Given the description of an element on the screen output the (x, y) to click on. 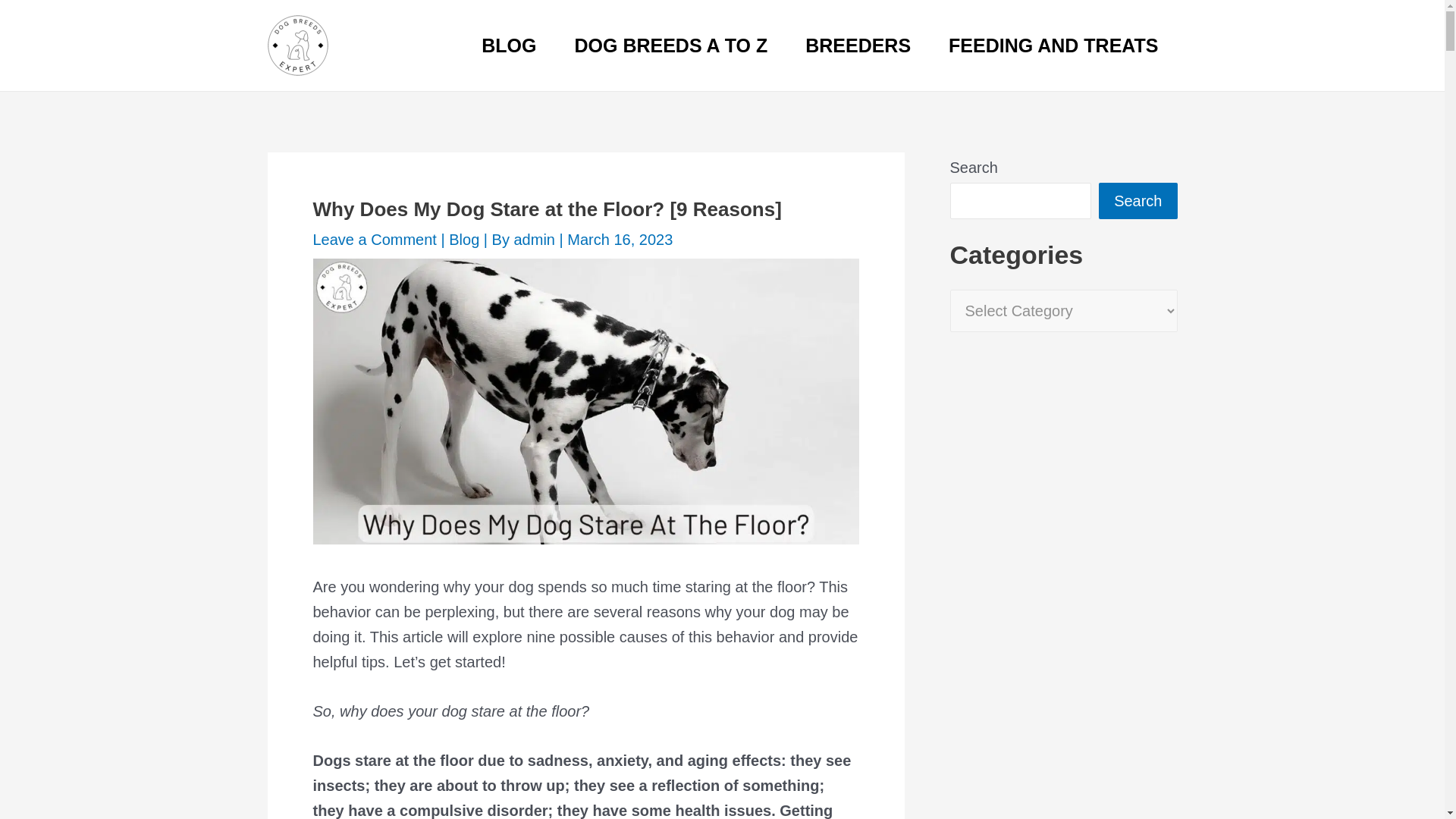
Leave a Comment (374, 239)
BLOG (508, 45)
admin (536, 239)
FEEDING AND TREATS (1053, 45)
BREEDERS (858, 45)
DOG BREEDS A TO Z (671, 45)
View all posts by admin (536, 239)
Blog (463, 239)
